Given the description of an element on the screen output the (x, y) to click on. 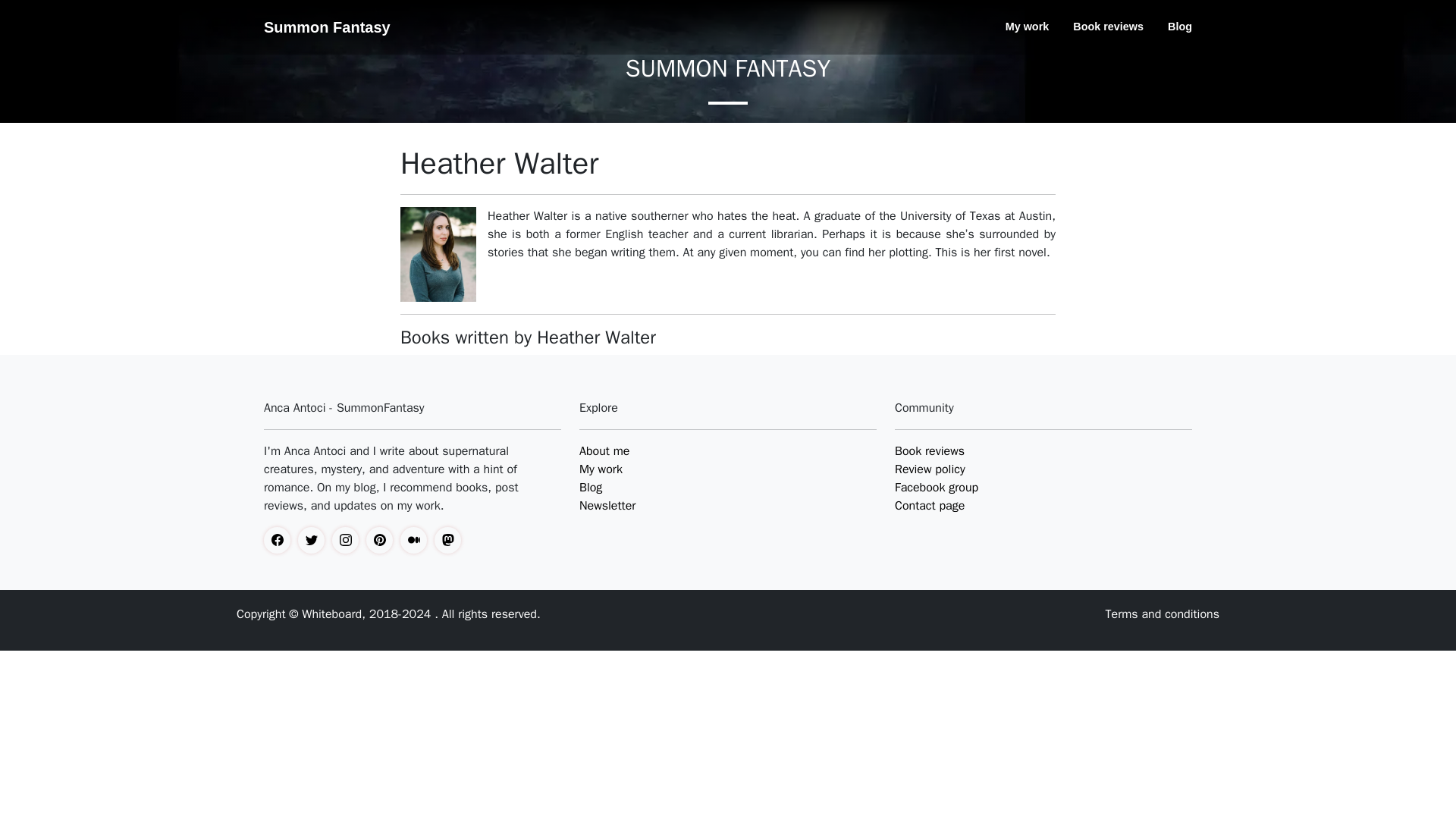
Review policy (930, 468)
My work (601, 468)
About me (603, 450)
Blog (1174, 27)
Anca Antoci on Mastodon (450, 540)
summonfantasy pinterest (383, 540)
My work (1026, 27)
Summon Fantasy (326, 27)
Terms and conditions (1162, 613)
Anca antoci on medium (416, 540)
Book reviews (1108, 27)
summonfantasy facebook (280, 540)
SummonFantasy terms and conditions (1162, 613)
Newsletter (606, 505)
Book reviews (929, 450)
